Given the description of an element on the screen output the (x, y) to click on. 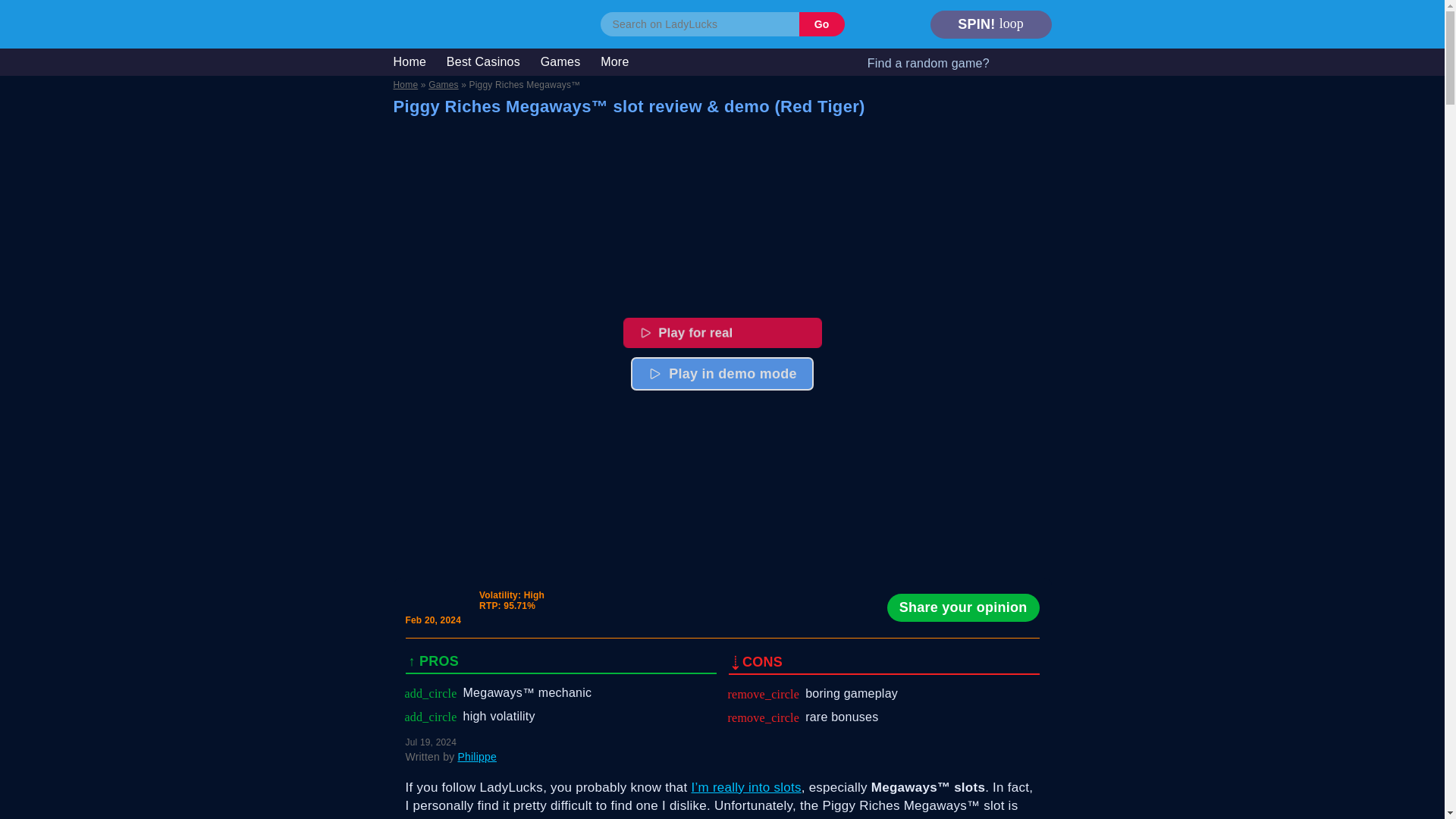
Home page LadyLucks (436, 23)
Play Now (732, 334)
Go (821, 24)
Share your opinion (962, 607)
Philippe (476, 756)
Play for real (730, 334)
Play in demo mode (721, 373)
Go (821, 24)
SPIN! loop (990, 24)
Games (443, 84)
Home (405, 84)
